Given the description of an element on the screen output the (x, y) to click on. 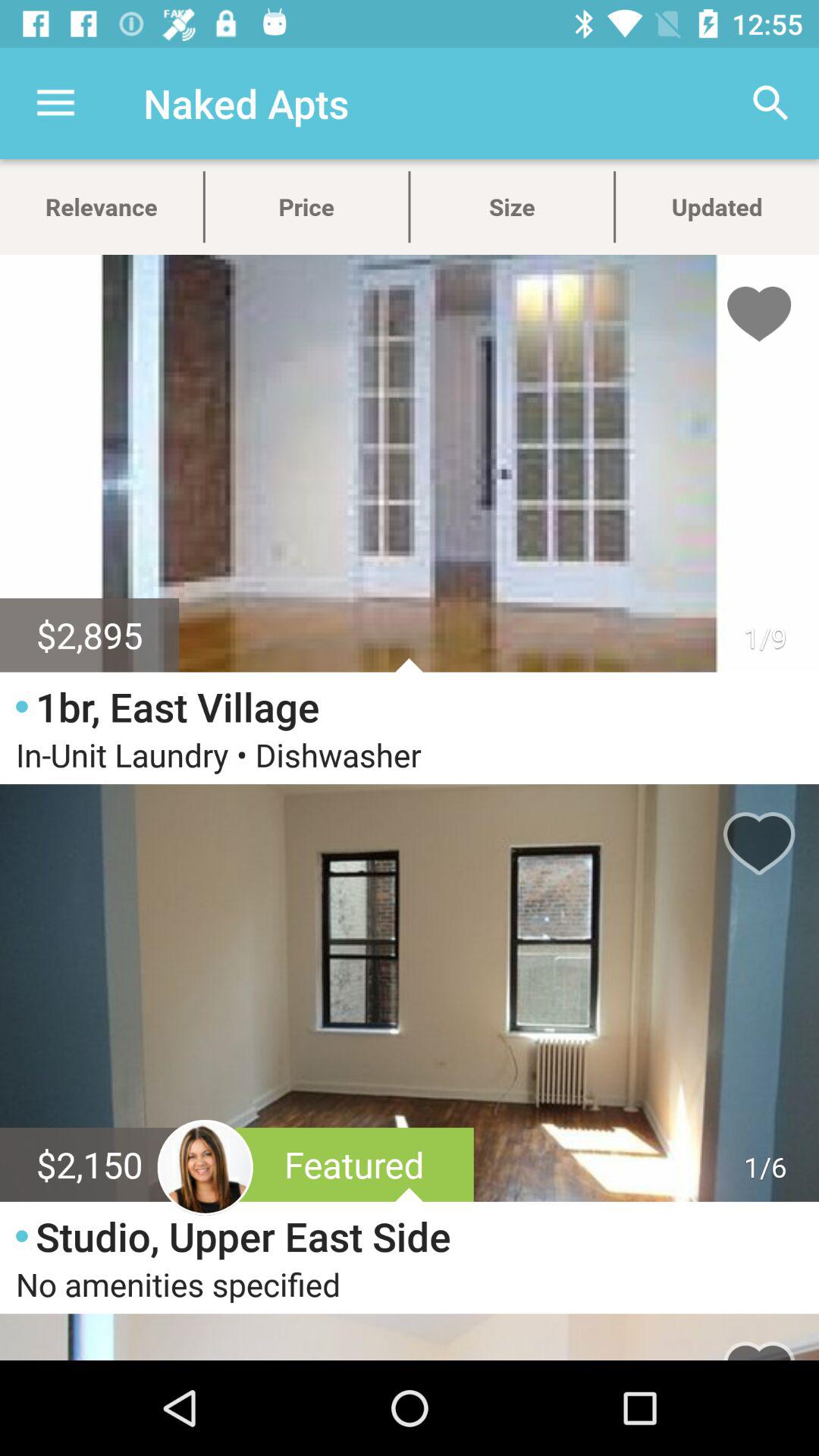
swipe to the updated (716, 206)
